Given the description of an element on the screen output the (x, y) to click on. 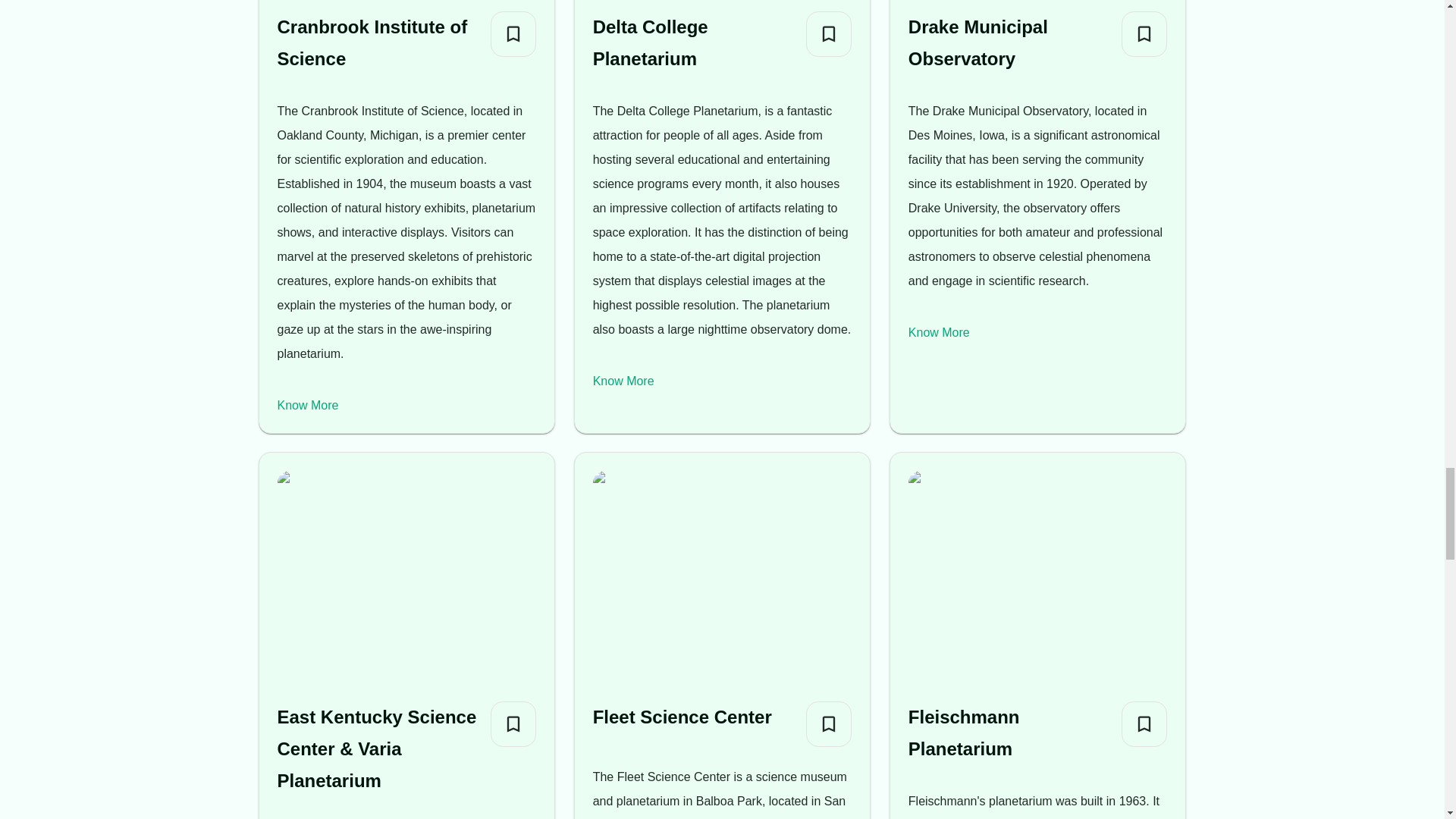
Add to Bucket List (512, 723)
Add to Bucket List (828, 33)
Add to Bucket List (512, 33)
Add to Bucket List (1144, 33)
Add to Bucket List (1144, 723)
Add to Bucket List (828, 723)
